Given the description of an element on the screen output the (x, y) to click on. 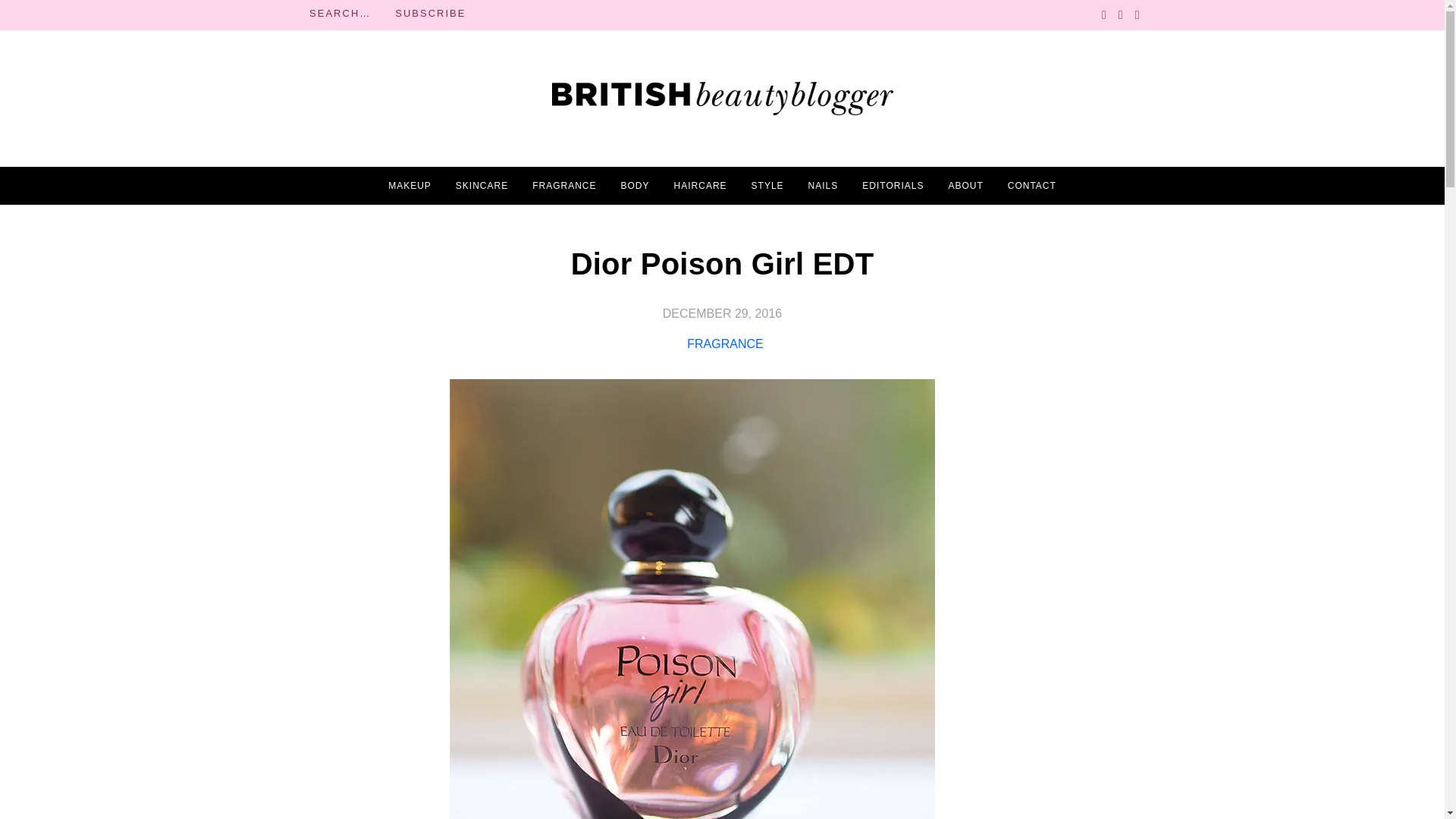
MAKEUP (409, 185)
SUBSCRIBE (429, 13)
CONTACT (1032, 185)
FRAGRANCE (724, 343)
FRAGRANCE (563, 185)
EDITORIALS (892, 185)
HAIRCARE (700, 185)
SKINCARE (481, 185)
ABOUT (964, 185)
